Given the description of an element on the screen output the (x, y) to click on. 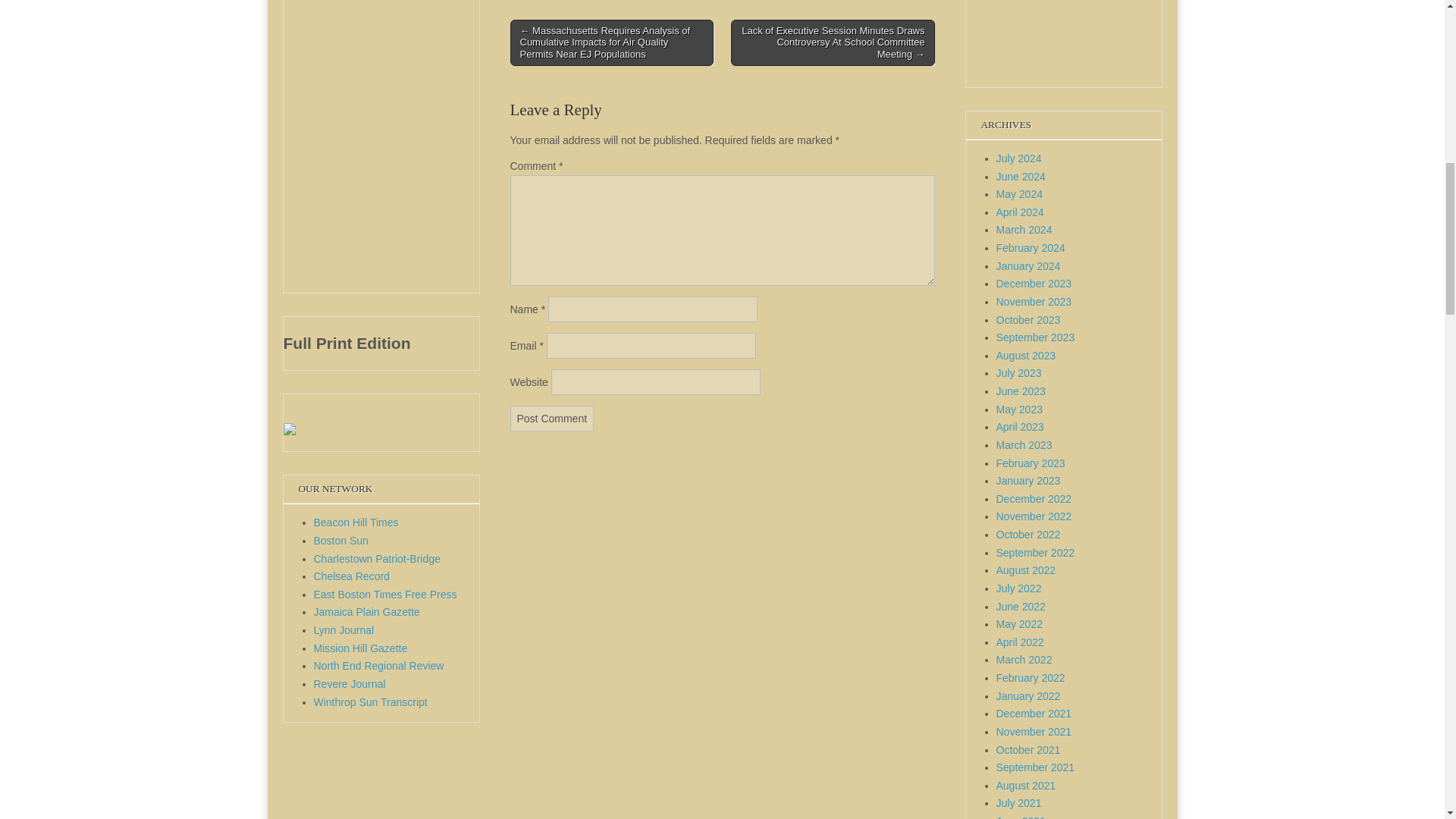
East Boston Times Free Press (385, 594)
Post Comment (551, 418)
Lynn Journal (344, 630)
Post Comment (551, 418)
Chelsea Record (352, 576)
Charlestown Patriot-Bridge (377, 558)
Boston Sun (341, 540)
Beacon Hill Times (356, 522)
Jamaica Plain Gazette (367, 612)
